Given the description of an element on the screen output the (x, y) to click on. 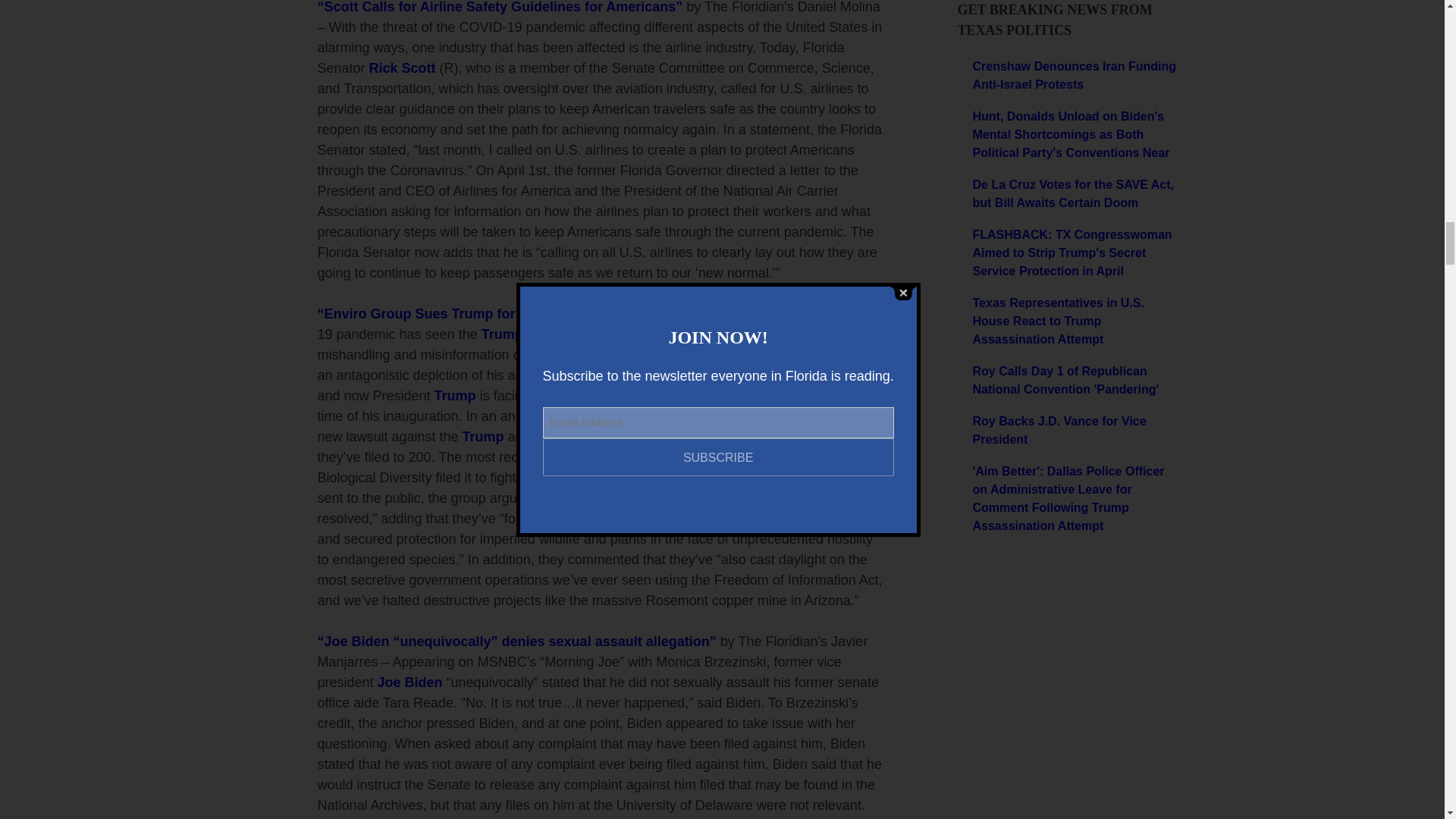
Trump (483, 436)
Trump (472, 313)
Rick Scott (402, 68)
Trump (454, 395)
Crenshaw Denounces Iran Funding Anti-Israel Protests (1074, 75)
Joe Biden (357, 641)
Roy Backs J.D. Vance for Vice President (1074, 430)
Trump (501, 334)
